Given the description of an element on the screen output the (x, y) to click on. 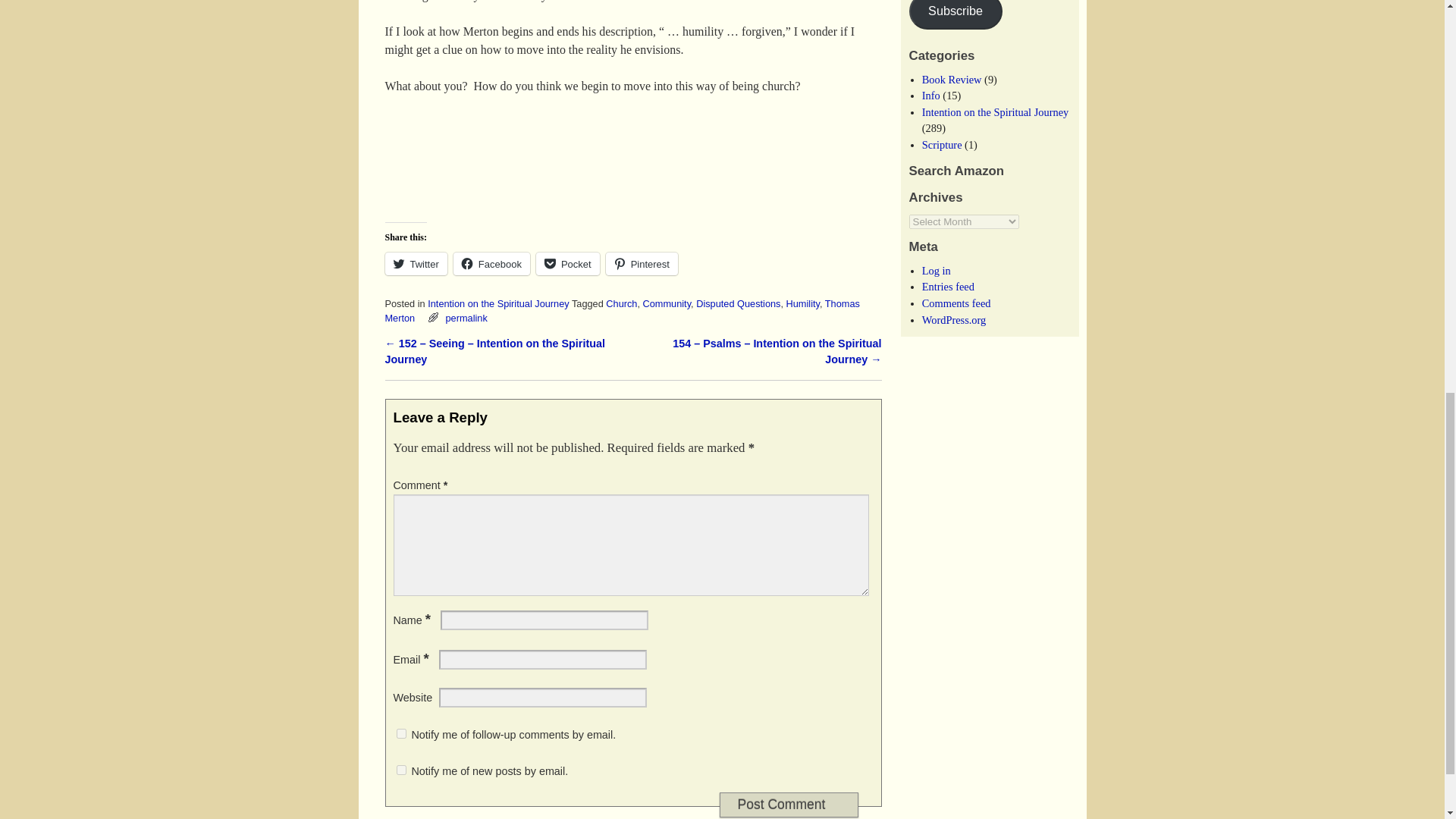
permalink (466, 317)
Click to share on Pocket (567, 263)
Facebook (490, 263)
Disputed Questions (737, 303)
subscribe (401, 733)
Church (621, 303)
Click to share on Pinterest (641, 263)
Click to share on Twitter (415, 263)
Post Comment (788, 804)
Pinterest (641, 263)
Post Comment (788, 804)
Twitter (415, 263)
Pocket (567, 263)
Thomas Merton (622, 310)
Click to share on Facebook (490, 263)
